Given the description of an element on the screen output the (x, y) to click on. 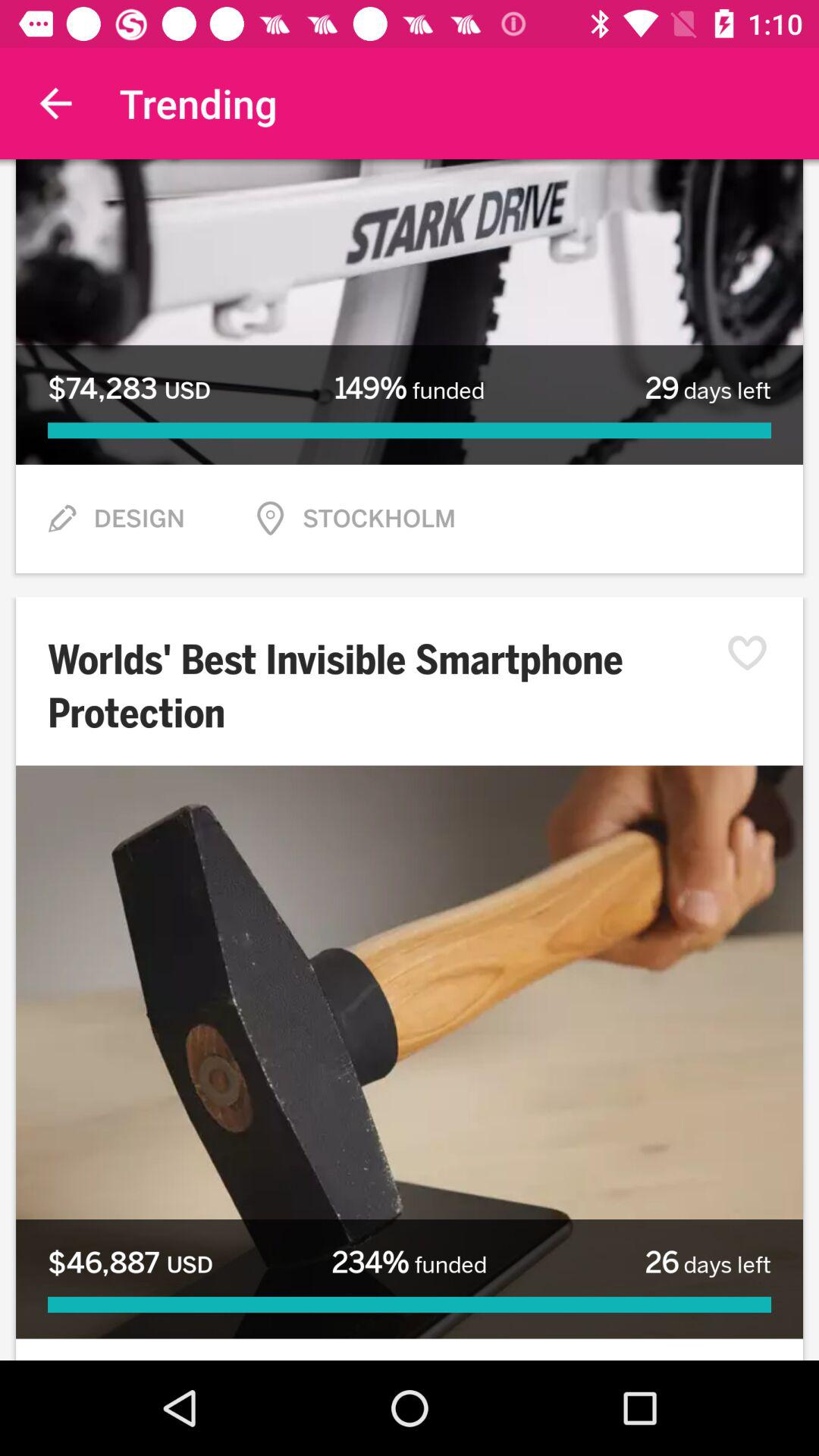
press the icon next to the design item (61, 518)
